Given the description of an element on the screen output the (x, y) to click on. 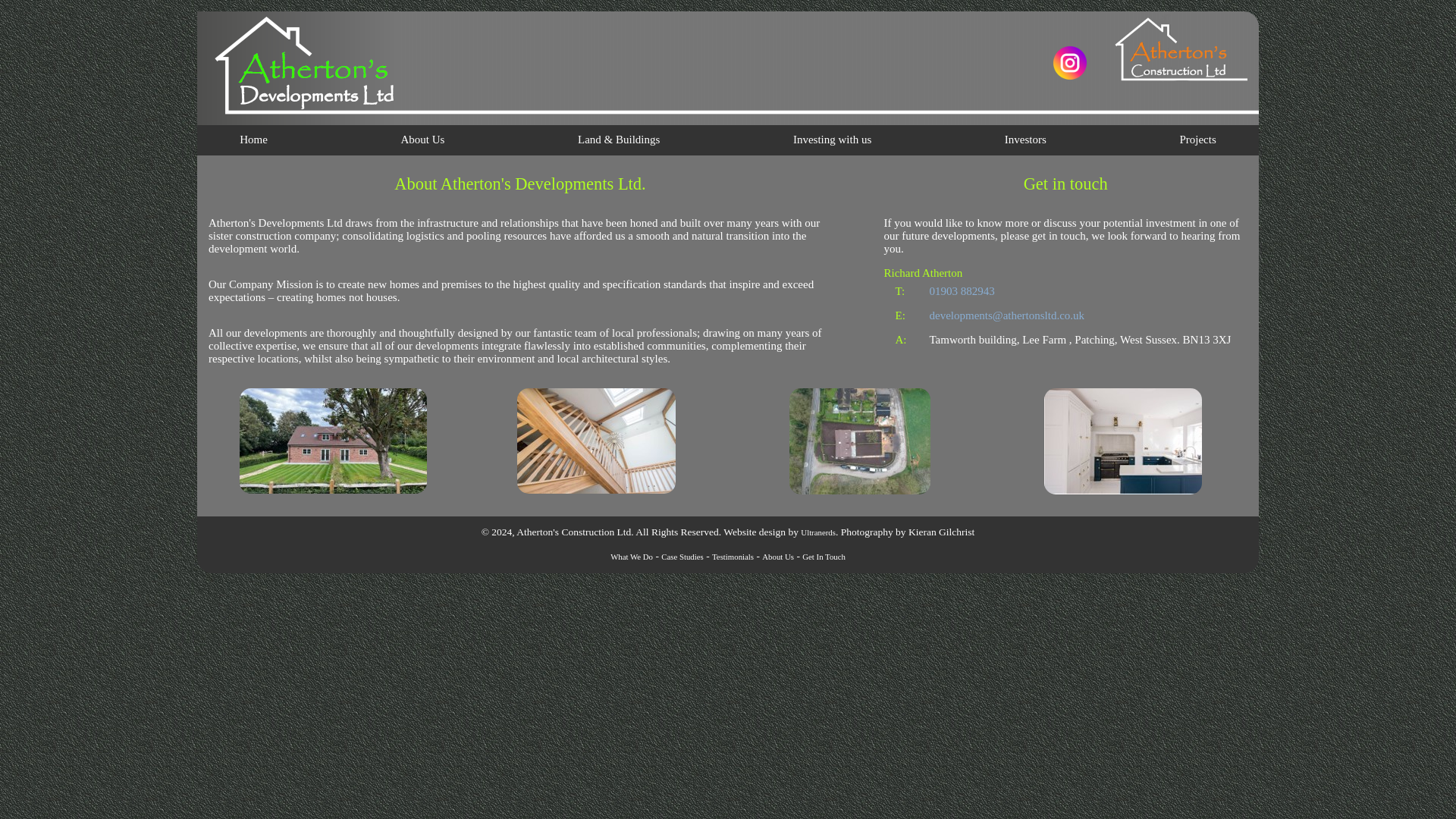
Testimonials (732, 556)
About Us (421, 140)
About Us (777, 556)
Projects (1197, 140)
Ultranerds (817, 532)
Home (253, 140)
Case Studies (682, 556)
What We Do (631, 556)
01903 882943 (962, 291)
Get In Touch (823, 556)
Investors (1025, 140)
Investing with us (832, 140)
